Given the description of an element on the screen output the (x, y) to click on. 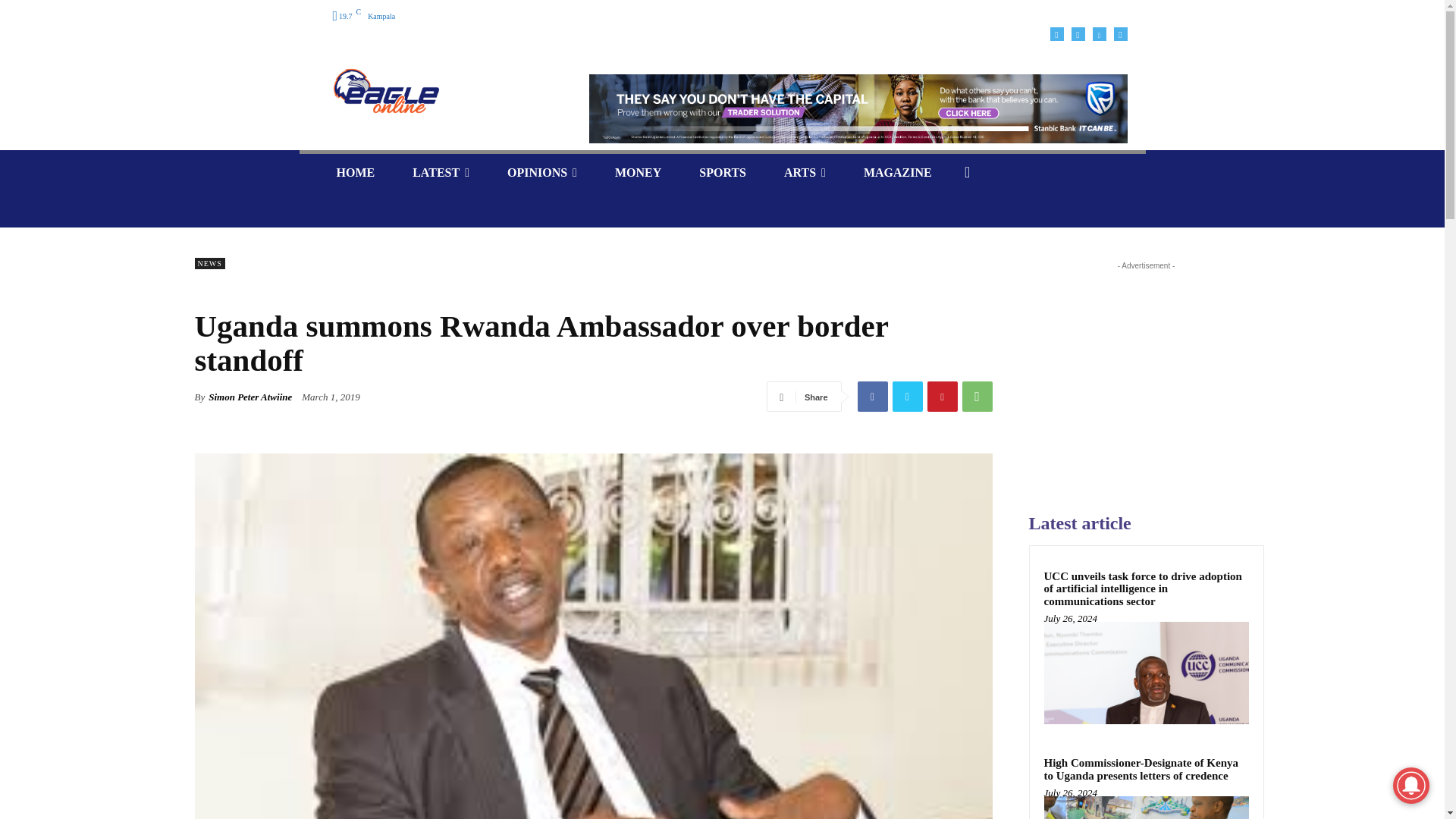
Twitter (906, 396)
MONEY (637, 171)
LATEST (440, 171)
Instagram (1077, 33)
Eagle Online (440, 90)
Facebook (871, 396)
Twitter (1119, 33)
OPINIONS (541, 171)
Linkedin (1098, 33)
Facebook (1055, 33)
Eagle Online (385, 90)
SPORTS (722, 171)
ARTS (804, 171)
HOME (355, 171)
